Given the description of an element on the screen output the (x, y) to click on. 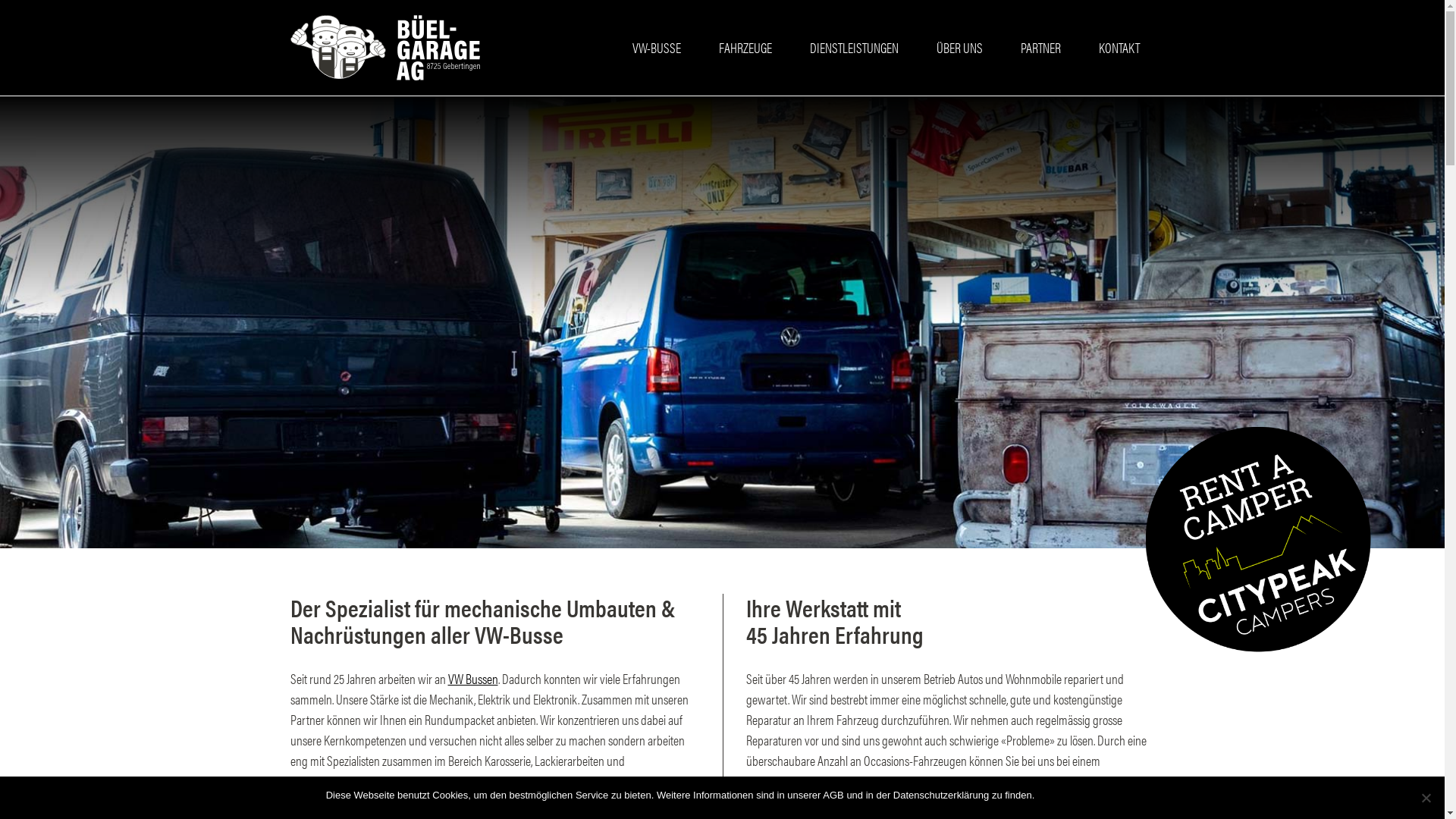
FAHRZEUGE Element type: text (745, 47)
KONTAKT Element type: text (1118, 47)
VW-BUSSE Element type: text (656, 47)
OK Element type: text (1048, 795)
DIENSTLEISTUNGEN Element type: text (853, 47)
No Element type: hover (1425, 797)
VW Element type: text (624, 800)
Datenschutz Element type: text (1090, 795)
PARTNER Element type: text (1040, 47)
VW Bussen Element type: text (472, 677)
